Given the description of an element on the screen output the (x, y) to click on. 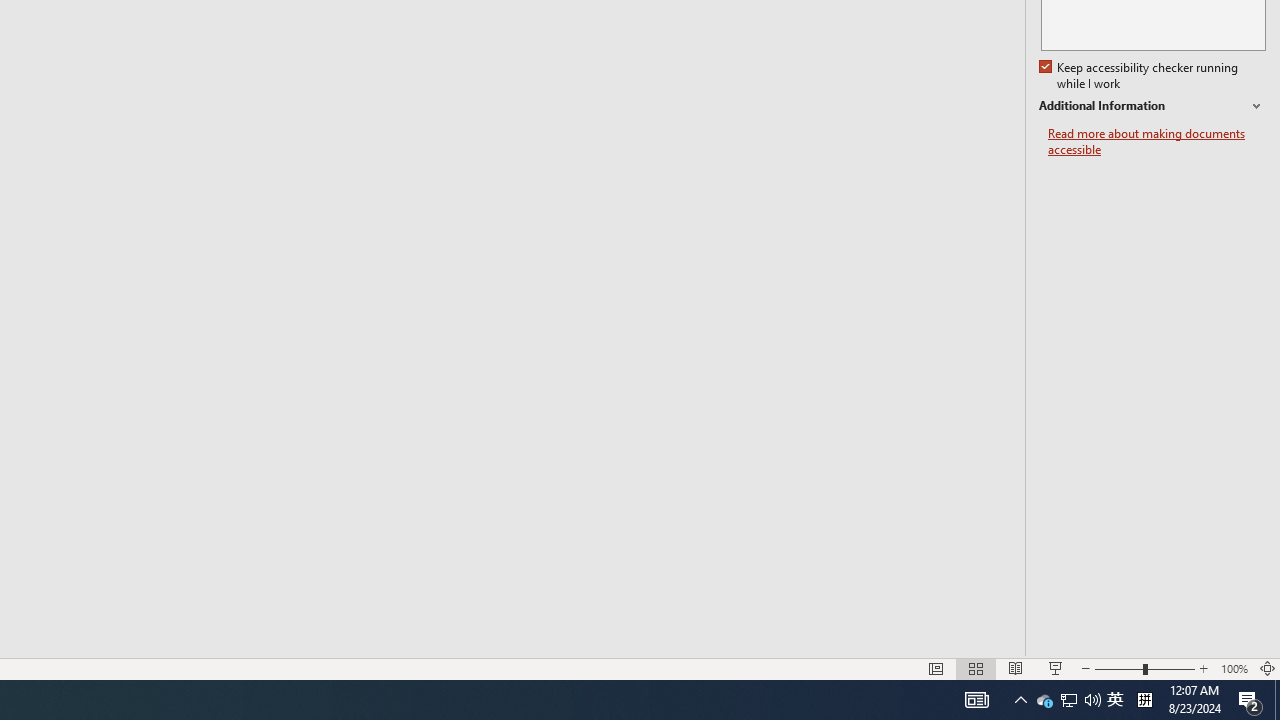
Keep accessibility checker running while I work (1140, 76)
Read more about making documents accessible (1156, 142)
Additional Information (1152, 106)
Zoom 100% (1234, 668)
